Given the description of an element on the screen output the (x, y) to click on. 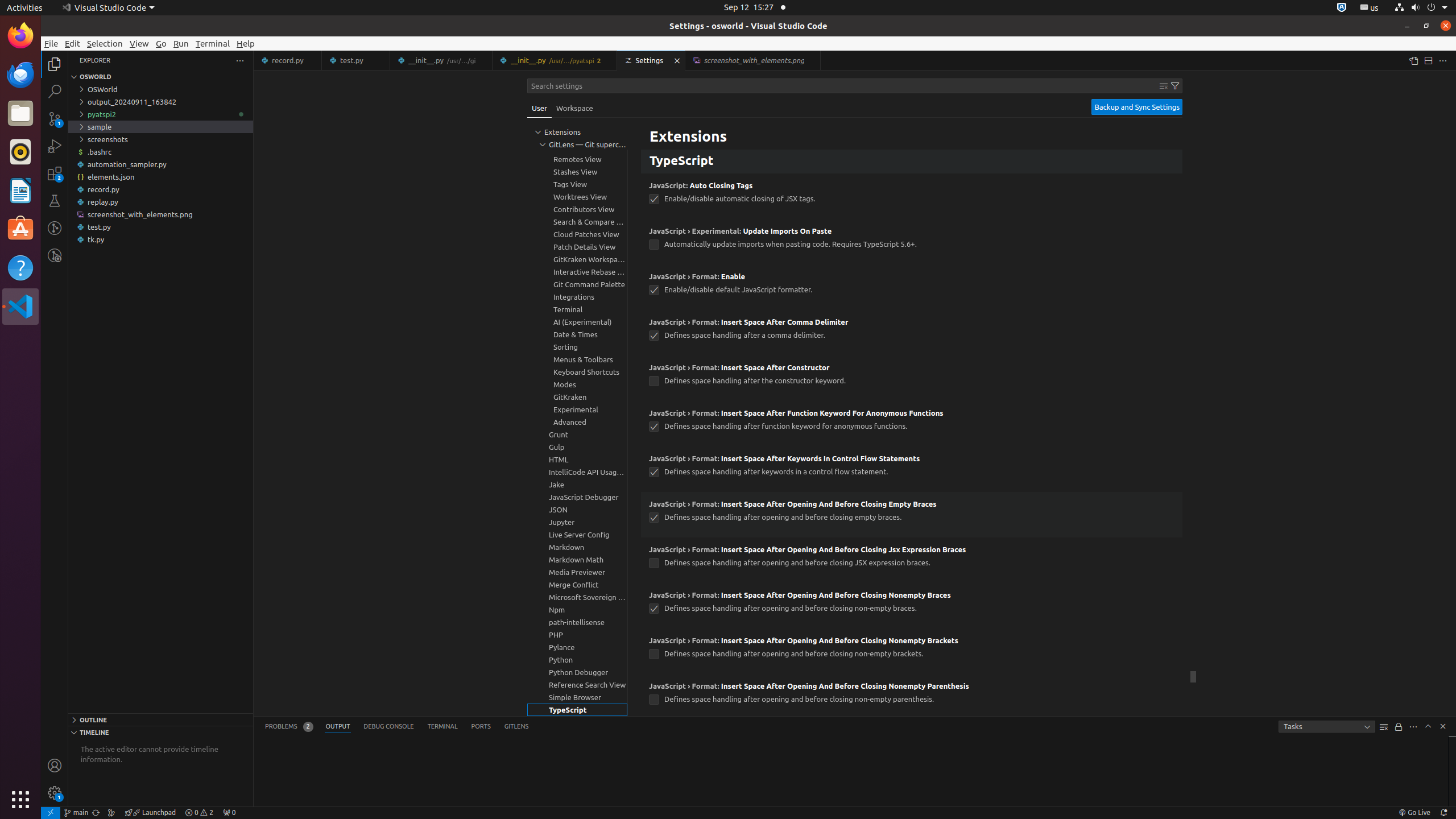
pyatspi2 Element type: tree-item (160, 114)
Media Previewer, group Element type: tree-item (577, 571)
Explorer Section: osworld Element type: push-button (160, 76)
.bashrc Element type: tree-item (160, 151)
Worktrees View, group Element type: tree-item (577, 196)
